Given the description of an element on the screen output the (x, y) to click on. 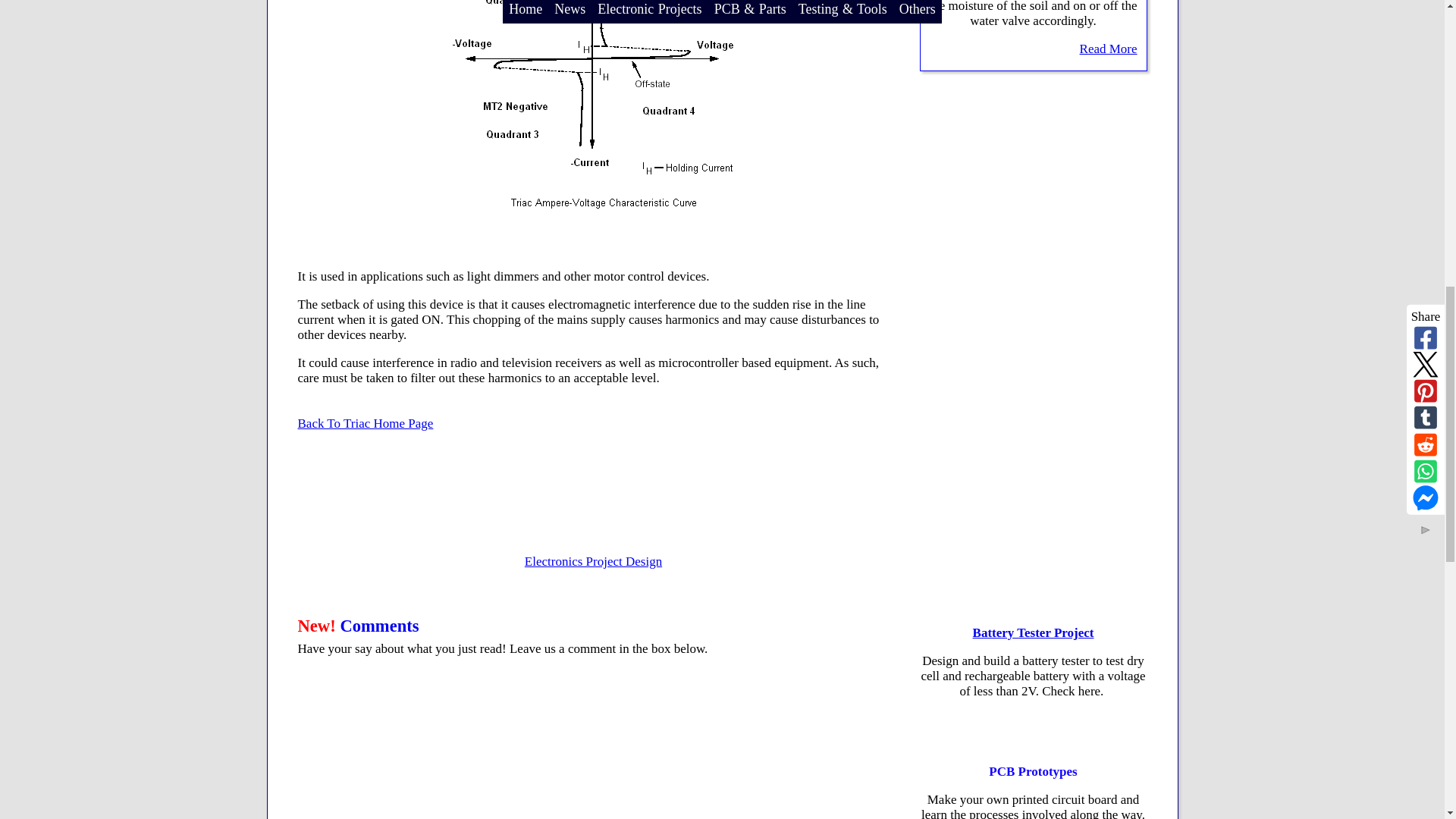
Electronics Project Design (593, 561)
Back To Triac Home Page (364, 423)
